Given the description of an element on the screen output the (x, y) to click on. 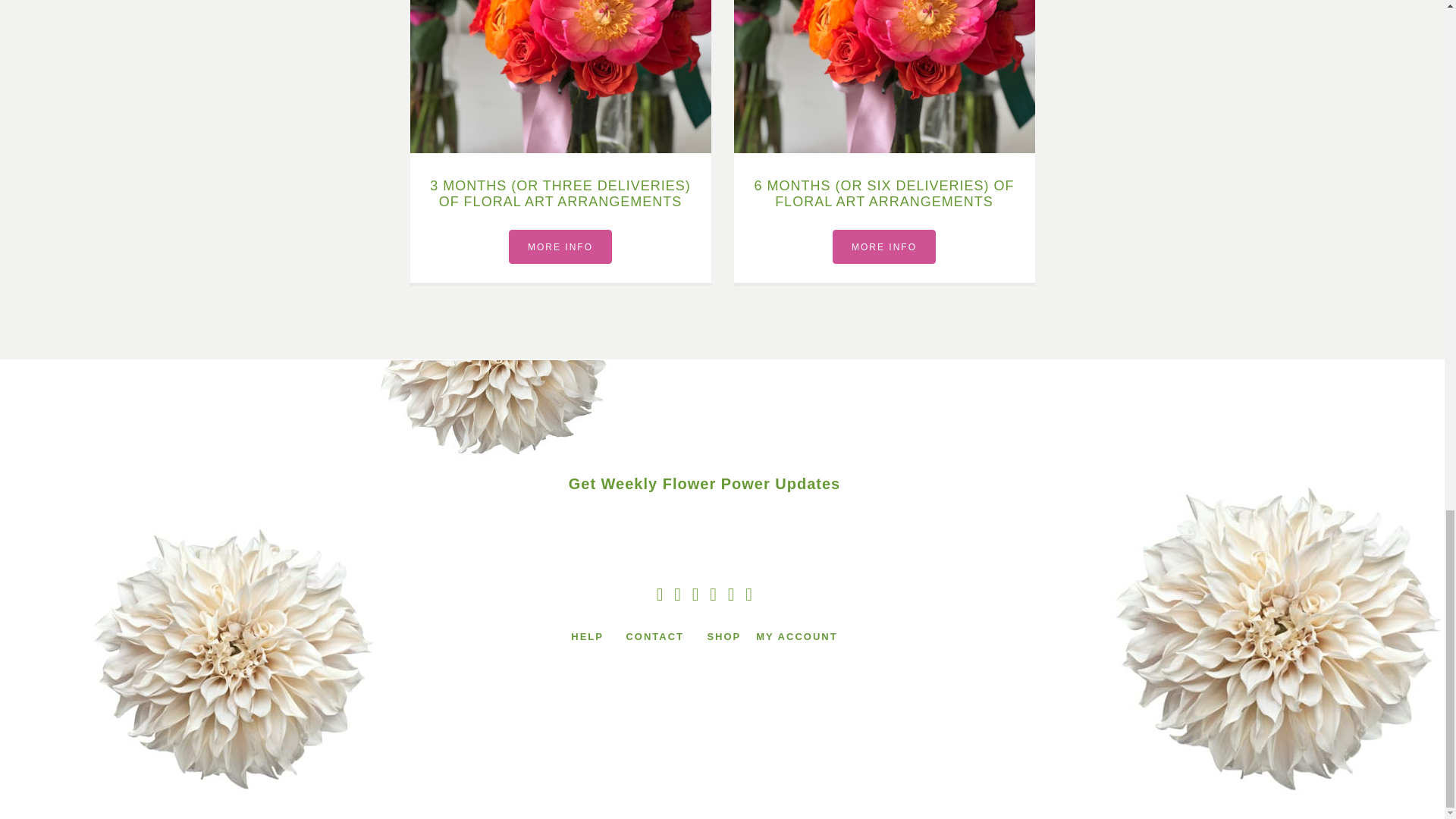
MORE INFO (884, 246)
dahila-left (232, 653)
dahila-top (498, 416)
HELP (587, 636)
Scroll back to top (1406, 162)
CONTACT  (656, 636)
MORE INFO (559, 246)
